Given the description of an element on the screen output the (x, y) to click on. 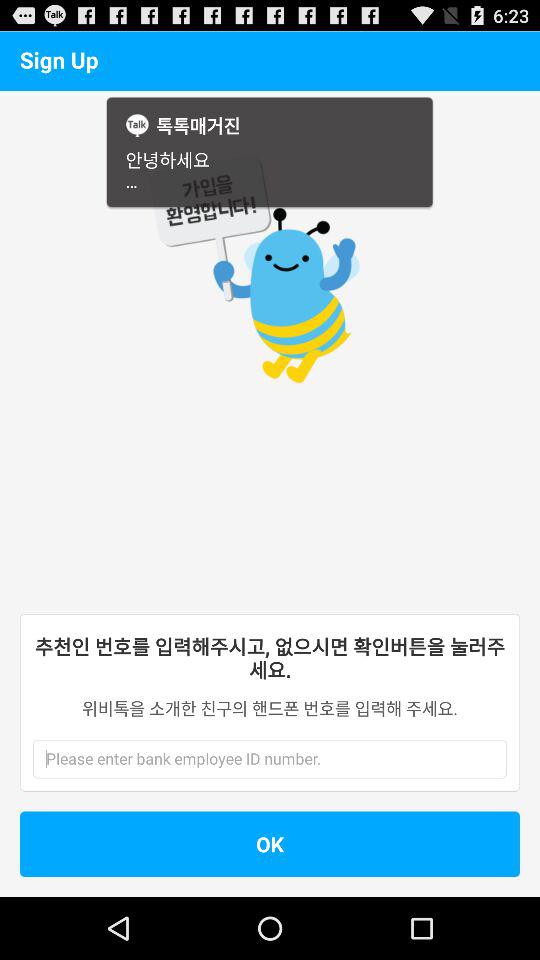
enter employee id number (249, 759)
